Given the description of an element on the screen output the (x, y) to click on. 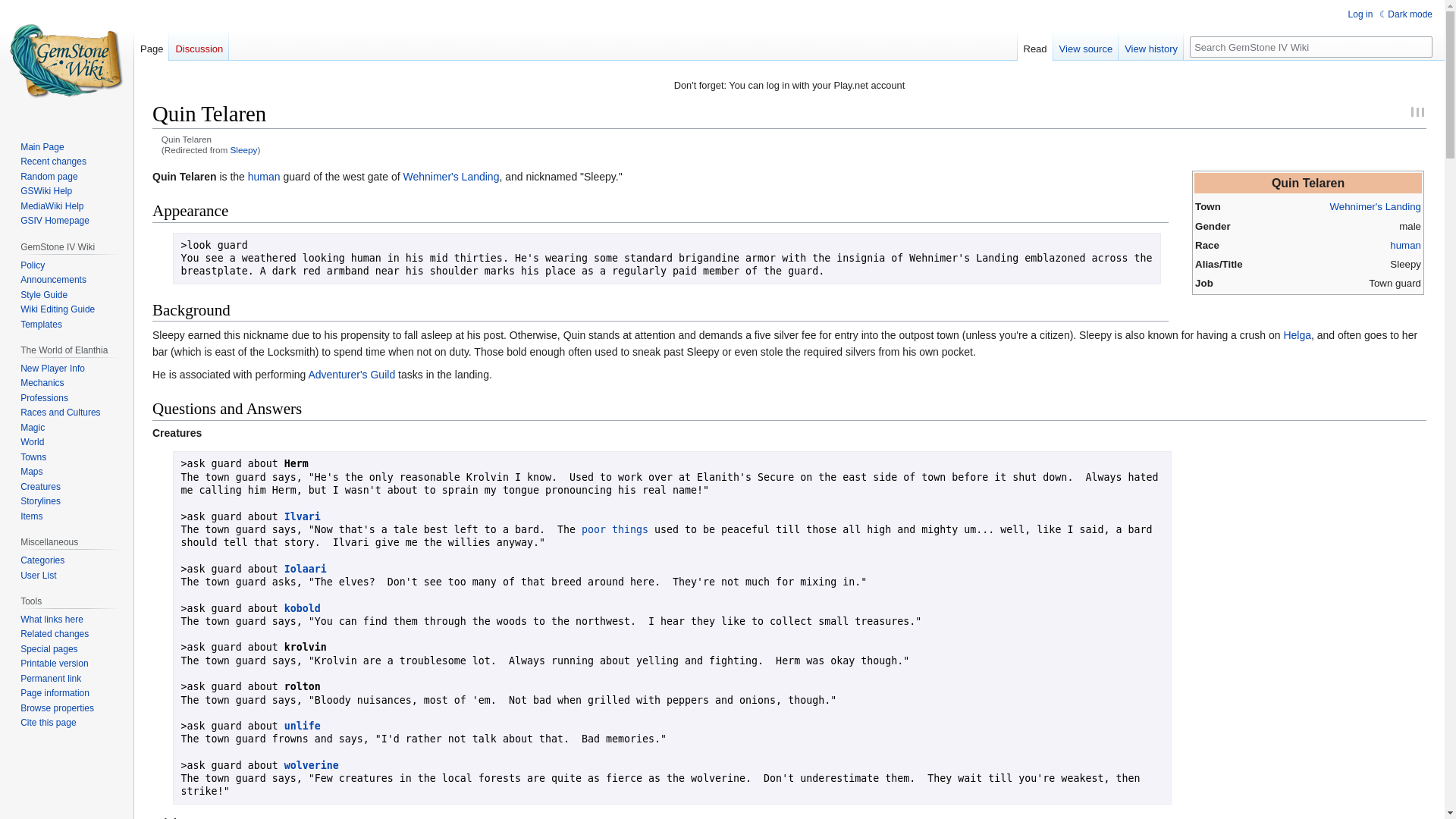
human (1405, 244)
Wehnimer's Landing (1375, 206)
Human (264, 176)
Wehnimer's Landing (1375, 206)
Human (1405, 244)
Adventurer's Guild (350, 374)
Helga (1296, 335)
human (264, 176)
wolverine (311, 765)
Go (1420, 46)
